Given the description of an element on the screen output the (x, y) to click on. 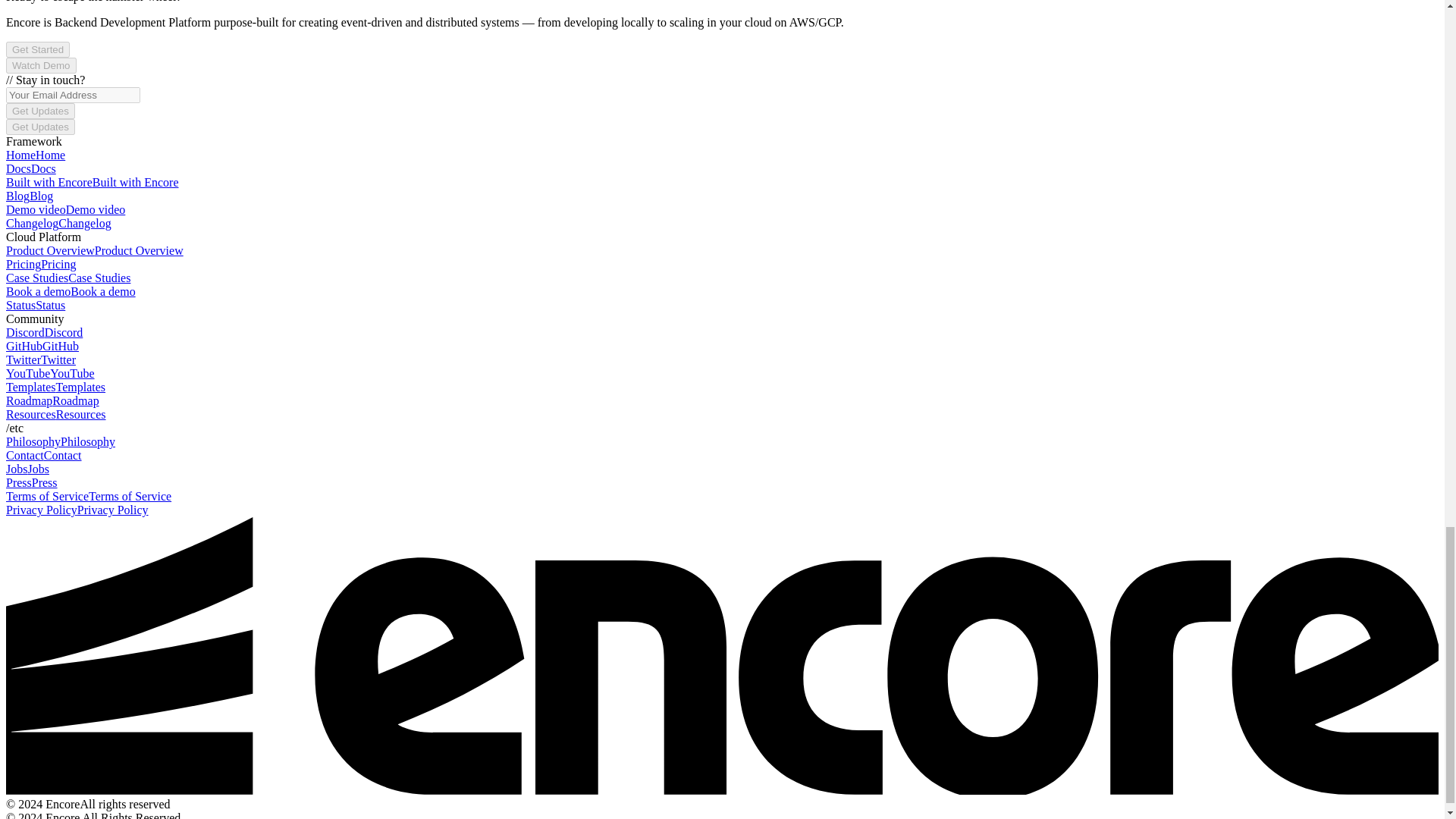
Product OverviewProduct Overview (94, 250)
PricingPricing (40, 264)
Demo videoDemo video (65, 209)
Watch Demo (41, 65)
ChangelogChangelog (58, 223)
Get Updates (40, 110)
Built with EncoreBuilt with Encore (92, 182)
Book a demoBook a demo (70, 291)
Get Updates (40, 126)
BlogBlog (28, 195)
